Given the description of an element on the screen output the (x, y) to click on. 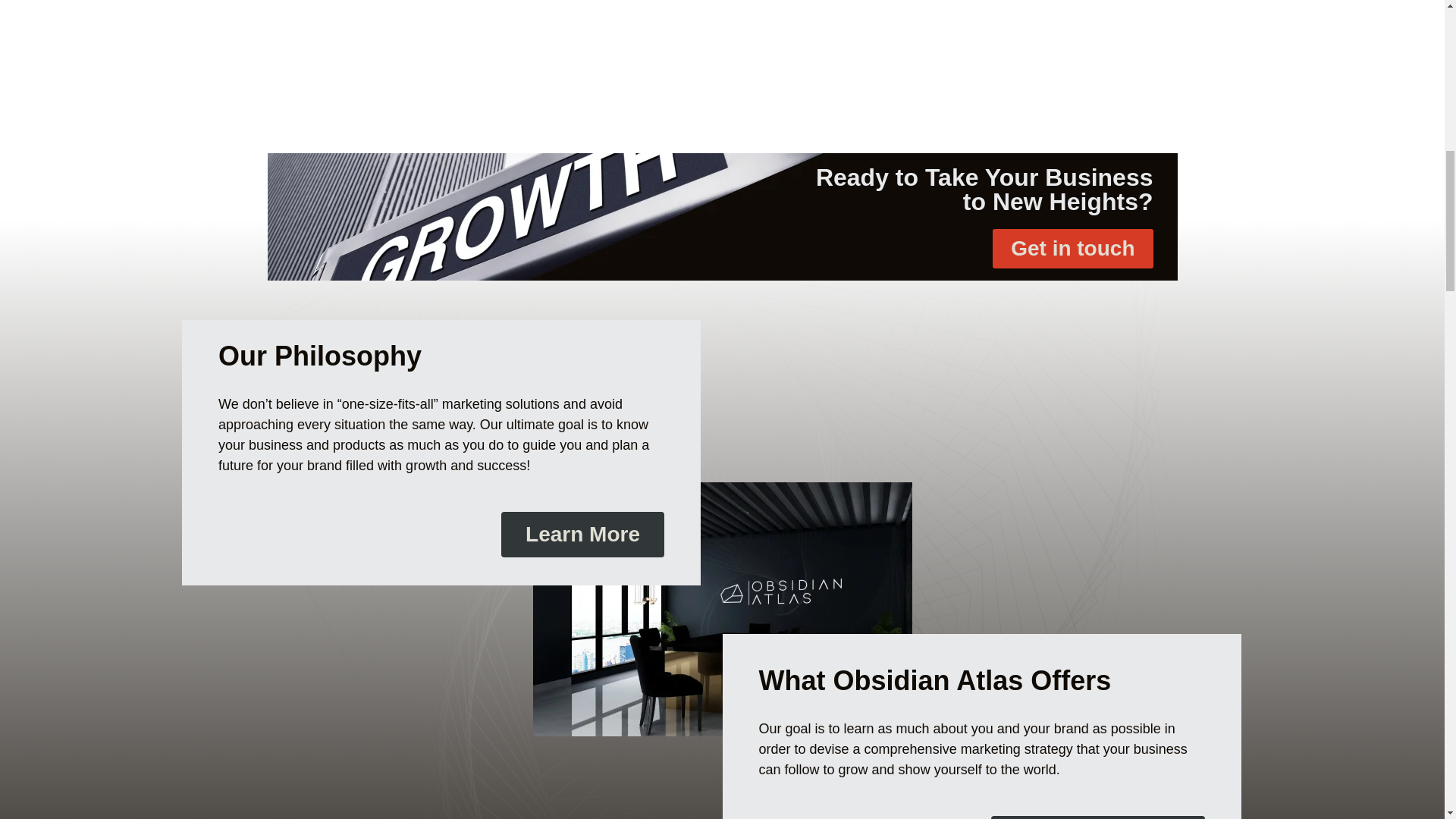
Request Service (1098, 817)
Learn More (581, 534)
Get in touch (1072, 248)
